Given the description of an element on the screen output the (x, y) to click on. 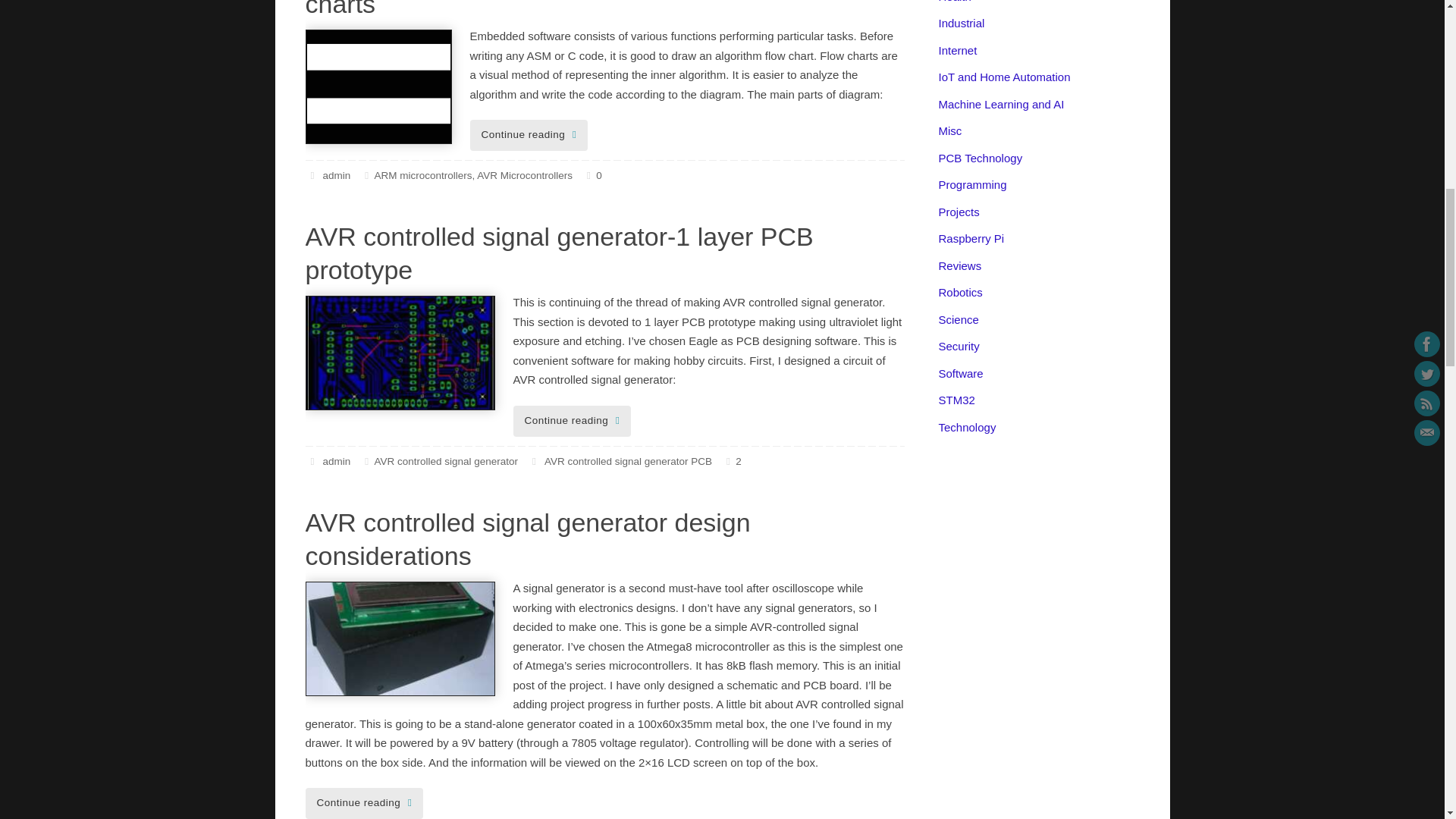
AVR controlled signal generator-1 layer PCB prototype (558, 252)
Continue reading (529, 134)
admin (335, 174)
0 (591, 174)
Building embedded software using algorithm flow charts (584, 9)
ARM microcontrollers (422, 174)
AVR Microcontrollers (524, 174)
